Given the description of an element on the screen output the (x, y) to click on. 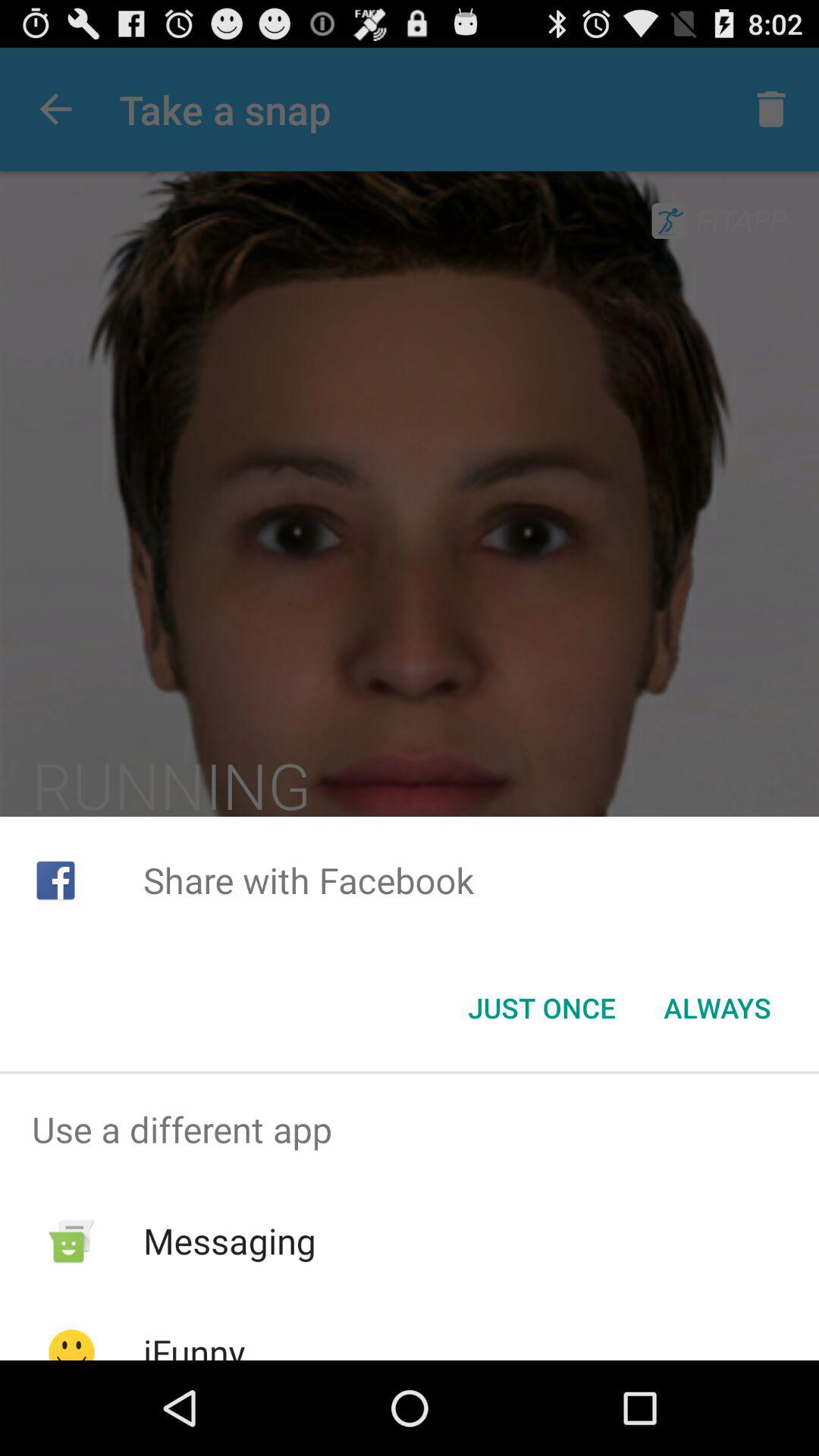
tap ifunny (194, 1344)
